Given the description of an element on the screen output the (x, y) to click on. 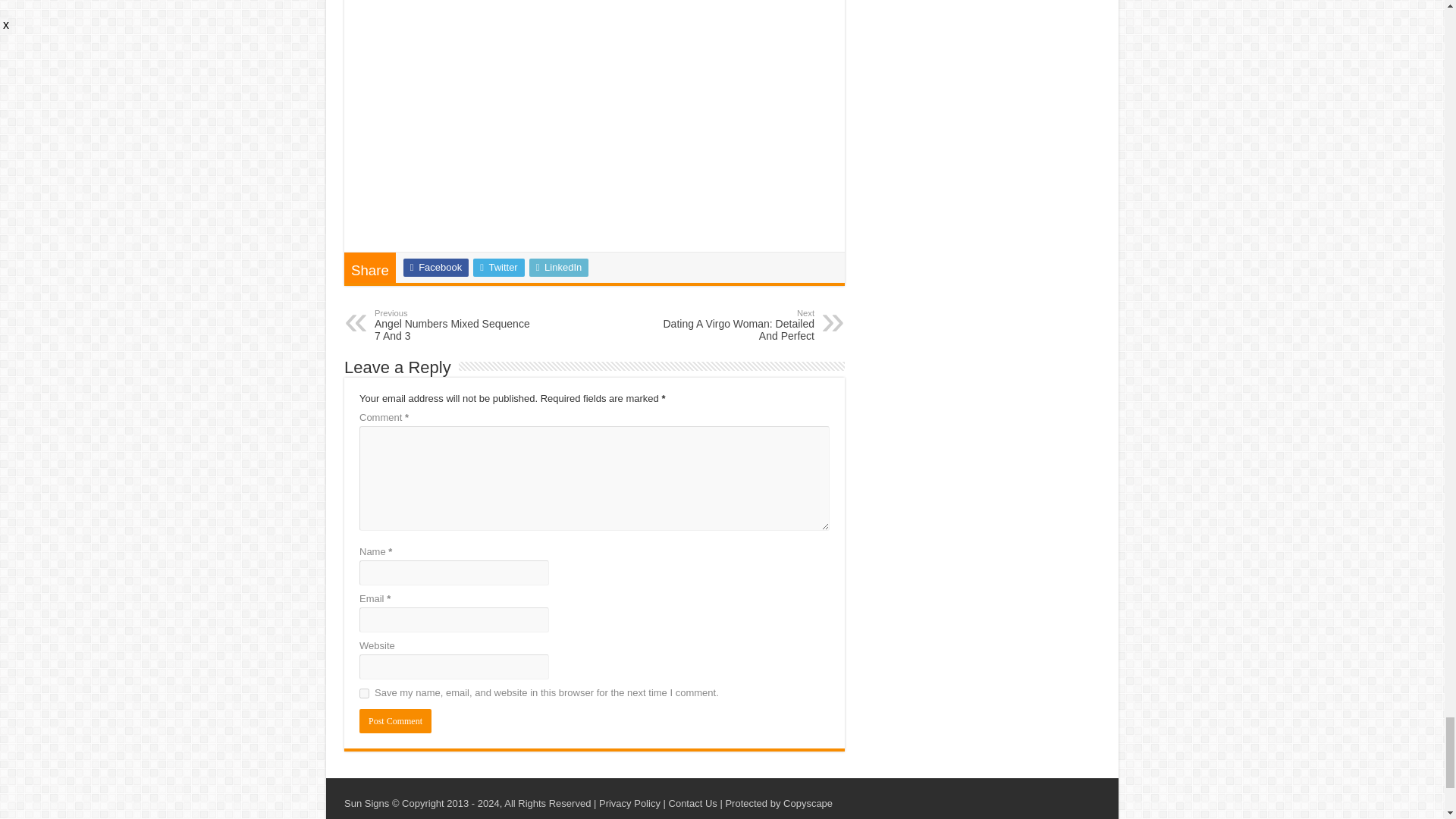
Post Comment (394, 721)
yes (364, 693)
